Given the description of an element on the screen output the (x, y) to click on. 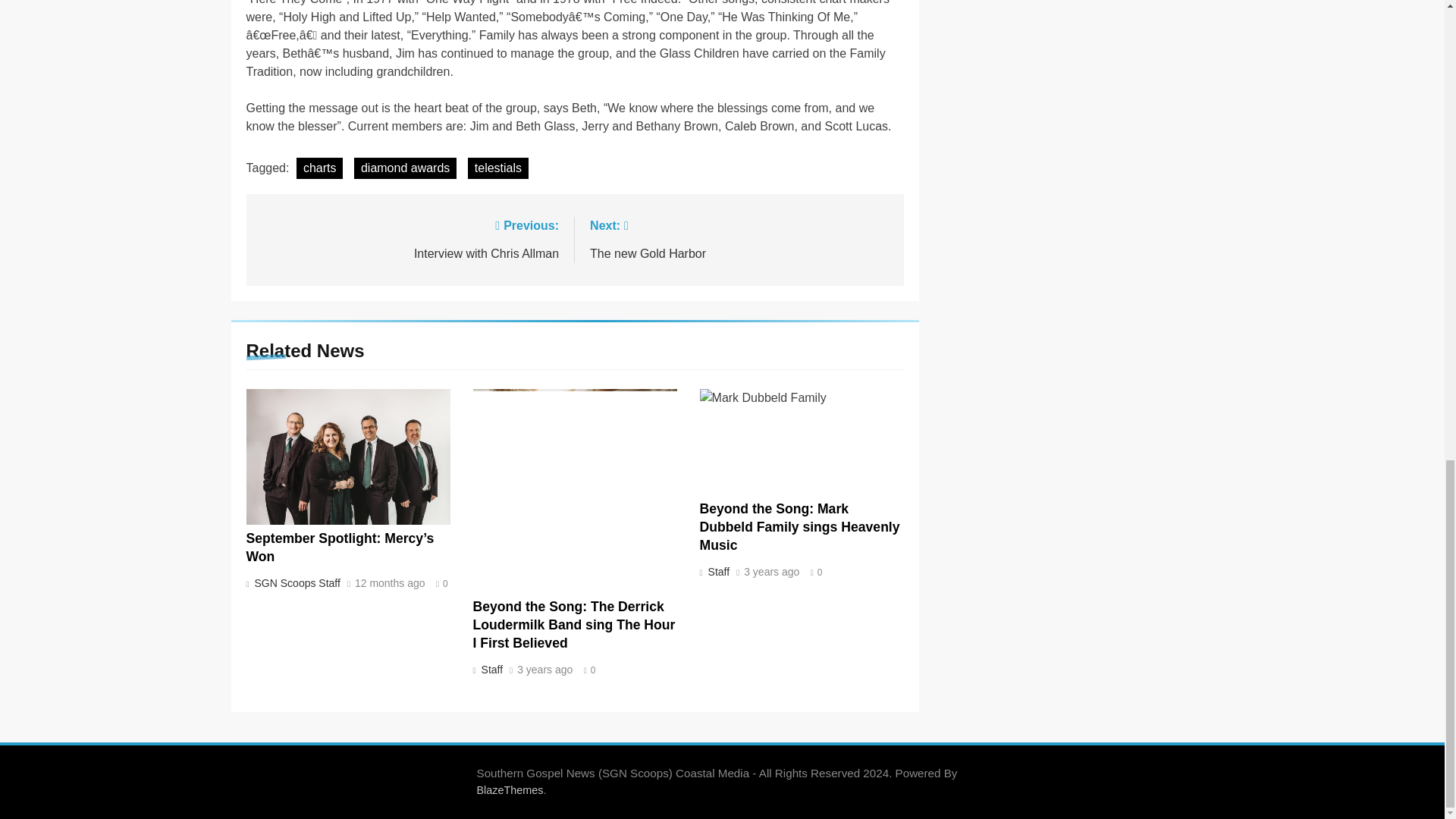
3 years ago (771, 572)
Staff (717, 571)
charts (320, 168)
Beyond the Song: Mark Dubbeld Family sings Heavenly Music (409, 238)
diamond awards (799, 526)
telestials (405, 168)
12 months ago (497, 168)
